Given the description of an element on the screen output the (x, y) to click on. 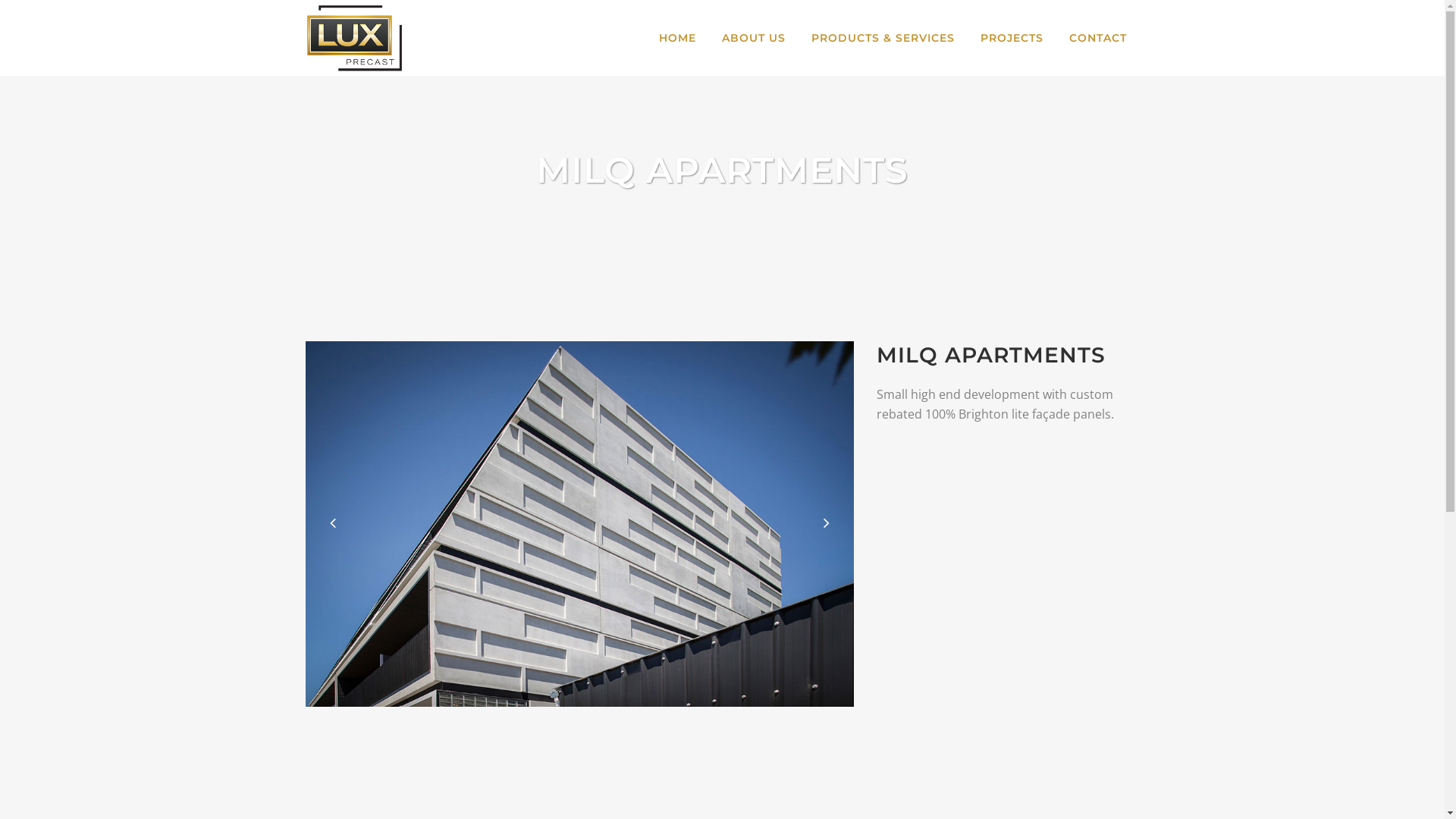
CONTACT Element type: text (1097, 37)
PROJECTS Element type: text (1011, 37)
ABOUT US Element type: text (752, 37)
PRODUCTS & SERVICES Element type: text (881, 37)
HOME Element type: text (677, 37)
